Given the description of an element on the screen output the (x, y) to click on. 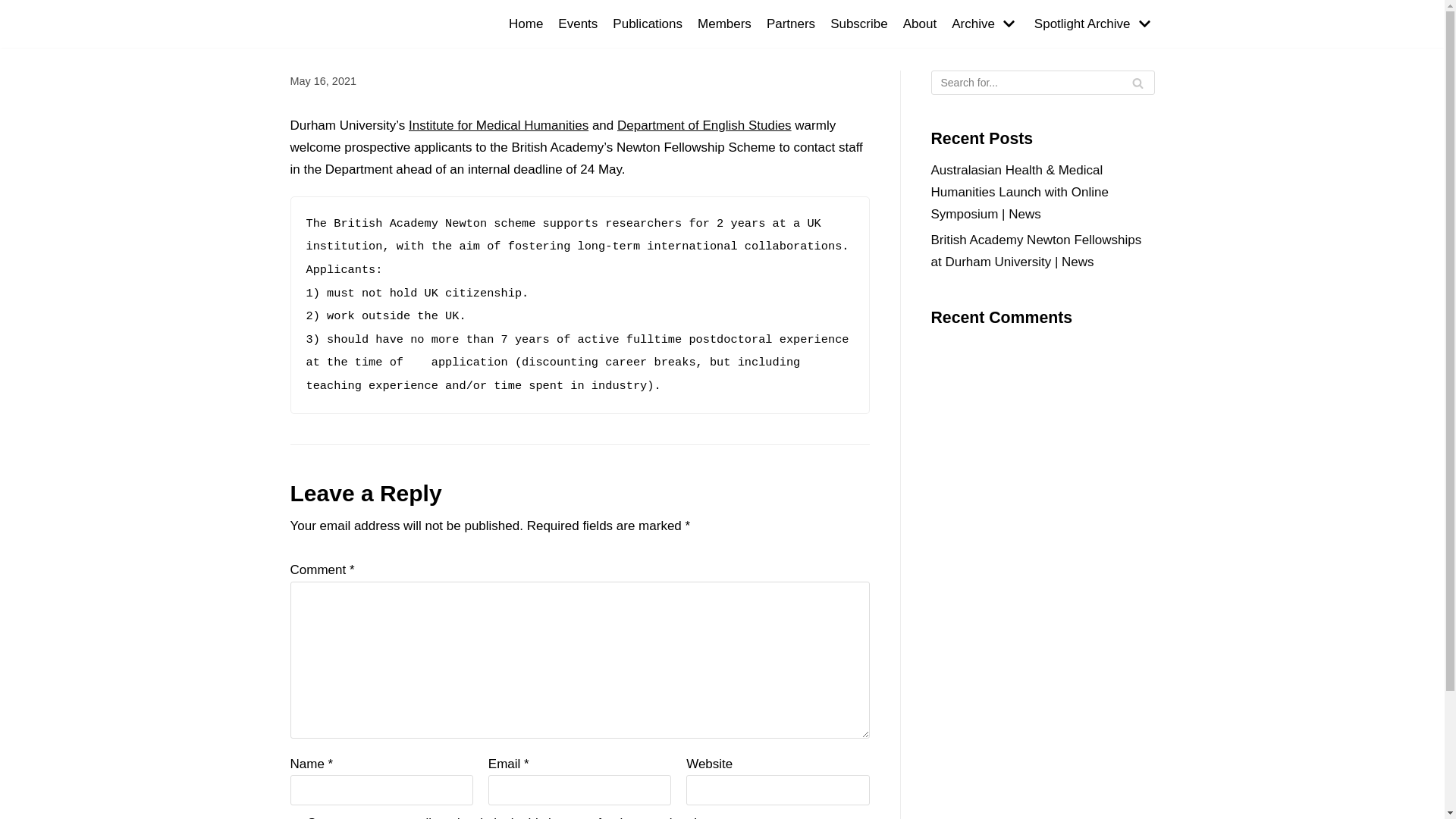
Publications Element type: text (647, 23)
Institute for Medical Humanities Element type: text (498, 125)
Events Element type: text (577, 23)
Spotlight Archive Element type: text (1094, 23)
Department of English Studies Element type: text (704, 125)
Partners Element type: text (790, 23)
Members Element type: text (724, 23)
About Element type: text (919, 23)
Subscribe Element type: text (859, 23)
Home Element type: text (525, 23)
Archive Element type: text (985, 23)
Skip to content Element type: text (15, 7)
